Given the description of an element on the screen output the (x, y) to click on. 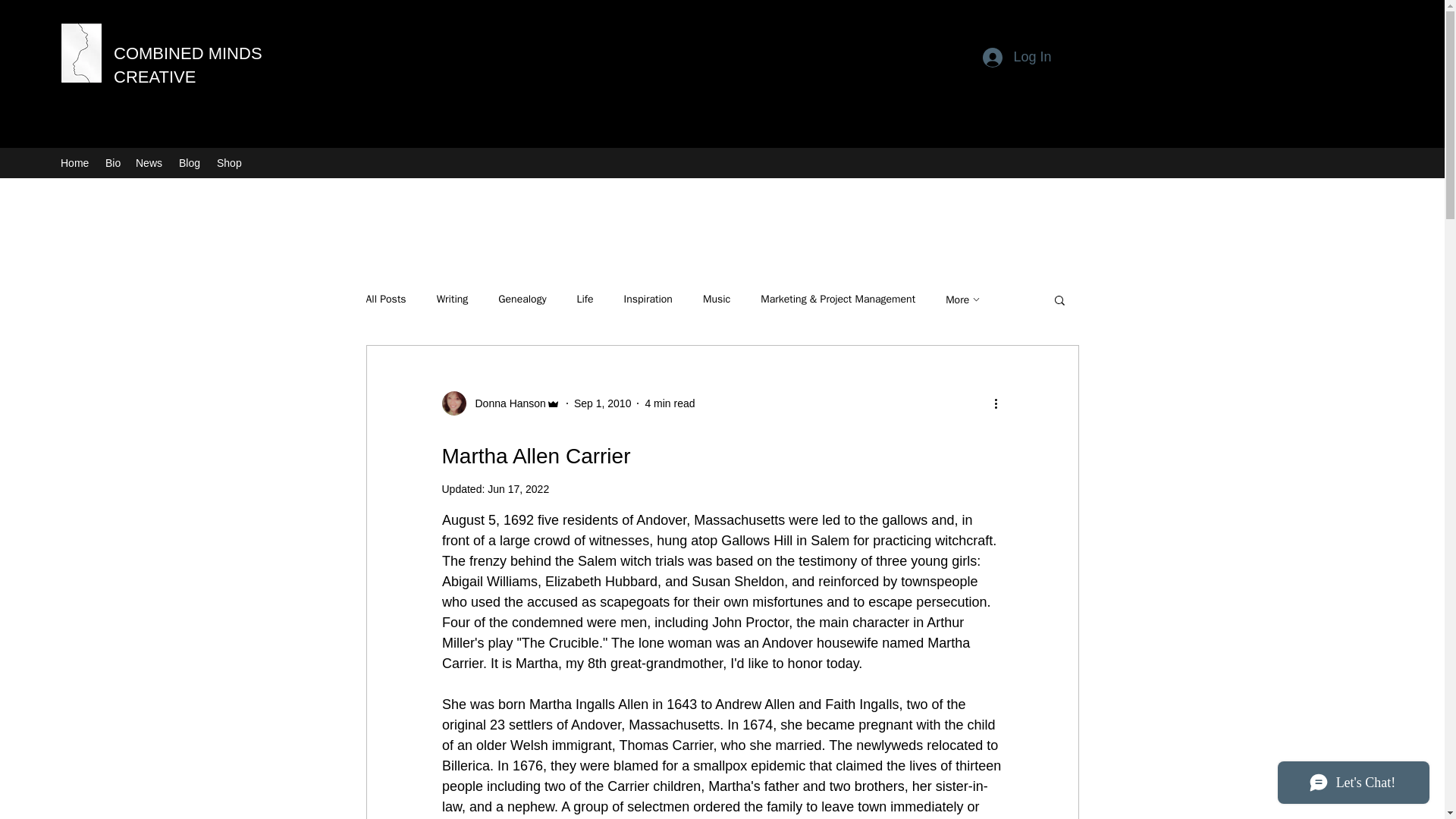
Genealogy (521, 299)
Blog (190, 162)
Sep 1, 2010 (602, 403)
Home (74, 162)
Shop (229, 162)
All Posts (385, 299)
Jun 17, 2022 (517, 489)
4 min read (669, 403)
Donna Hanson (504, 403)
Writing (452, 299)
